Given the description of an element on the screen output the (x, y) to click on. 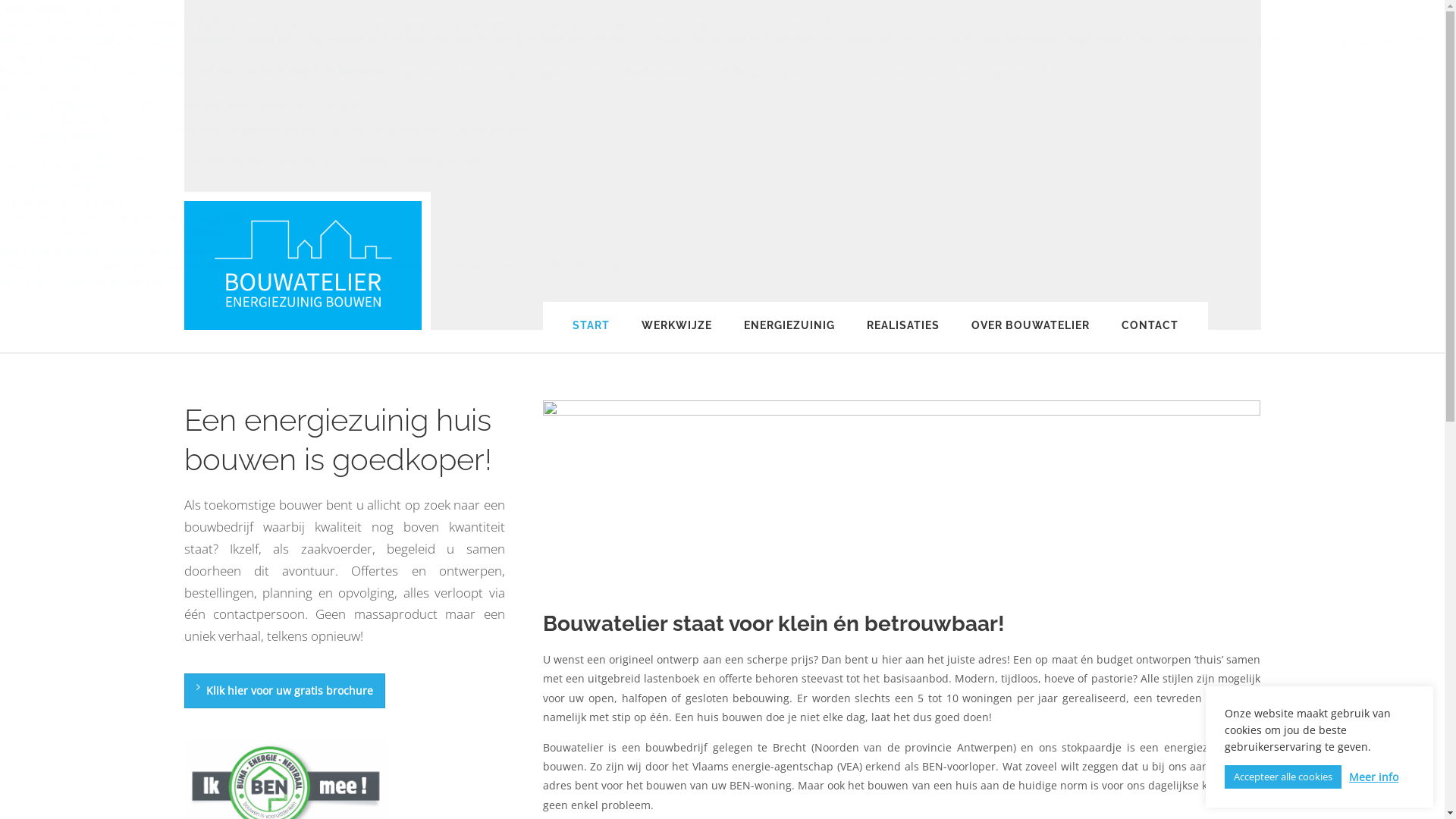
REALISATIES Element type: text (902, 337)
Bouwatelier bv | Bouwbedrijf te Brecht Element type: hover (301, 264)
Accepteer alle cookies Element type: text (1282, 776)
CONTACT Element type: text (1149, 337)
Klik hier voor uw gratis brochure Element type: text (283, 690)
ENERGIEZUINIG Element type: text (789, 337)
WERKWIJZE Element type: text (676, 337)
Jackpot Van Het Belg Casino Is Gevallen Element type: text (61, 175)
Meer info Element type: text (1373, 777)
Wat Zijn De Percentages Bij Digitale Blackjack Element type: text (115, 39)
START Element type: text (591, 337)
Wat Is Het Beste Casino Dobbelspel In 2023 Element type: text (110, 23)
Beste Live Blackjack Met Een Belg Dealer Element type: text (103, 249)
Belg Casino-Platform Is Zeer Populair Element type: text (94, 281)
OVER BOUWATELIER Element type: text (1030, 337)
